Given the description of an element on the screen output the (x, y) to click on. 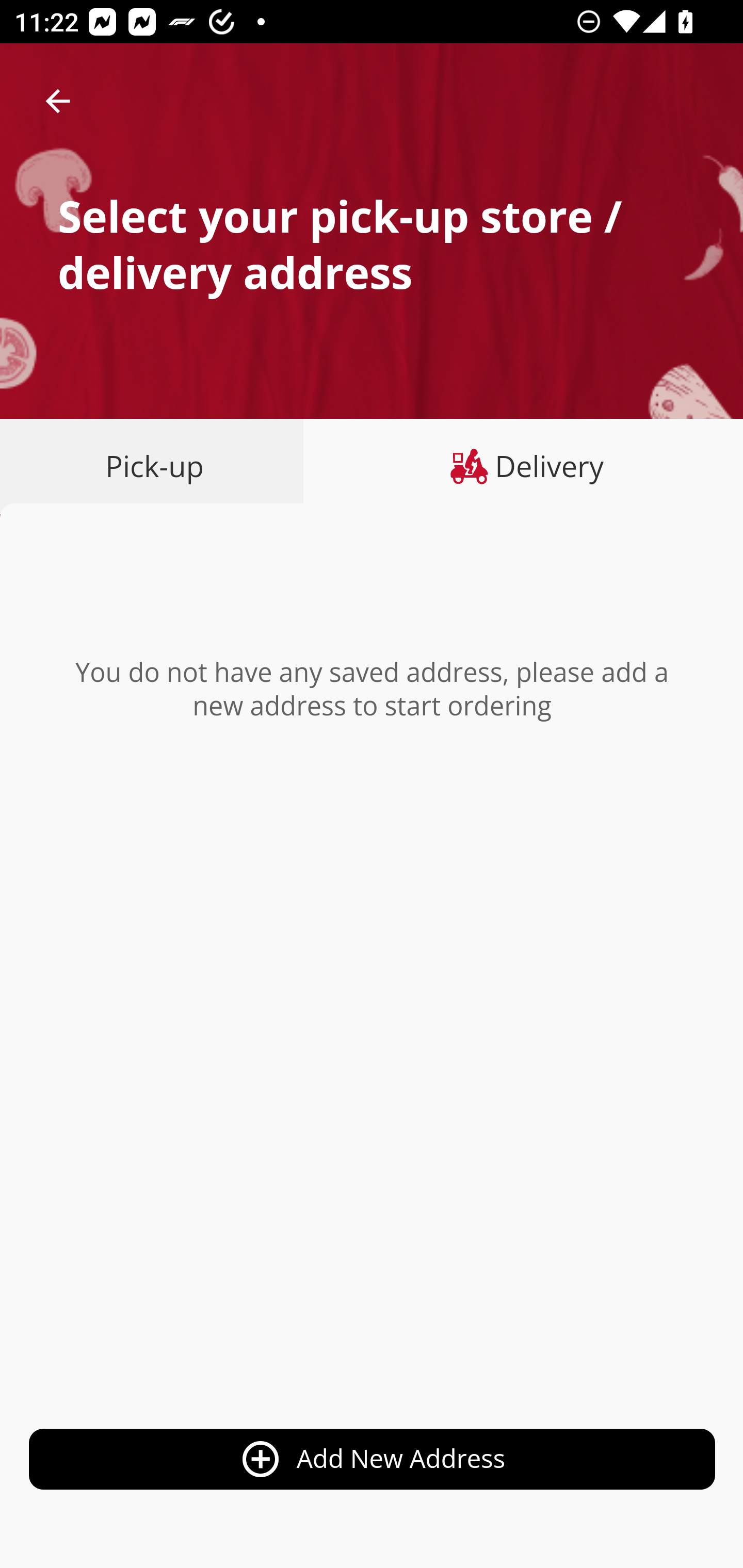
arrow_back (58, 100)
Pick-up (157, 466)
Delivery (523, 466)
add_circle_outline Add New Address (372, 1459)
